Given the description of an element on the screen output the (x, y) to click on. 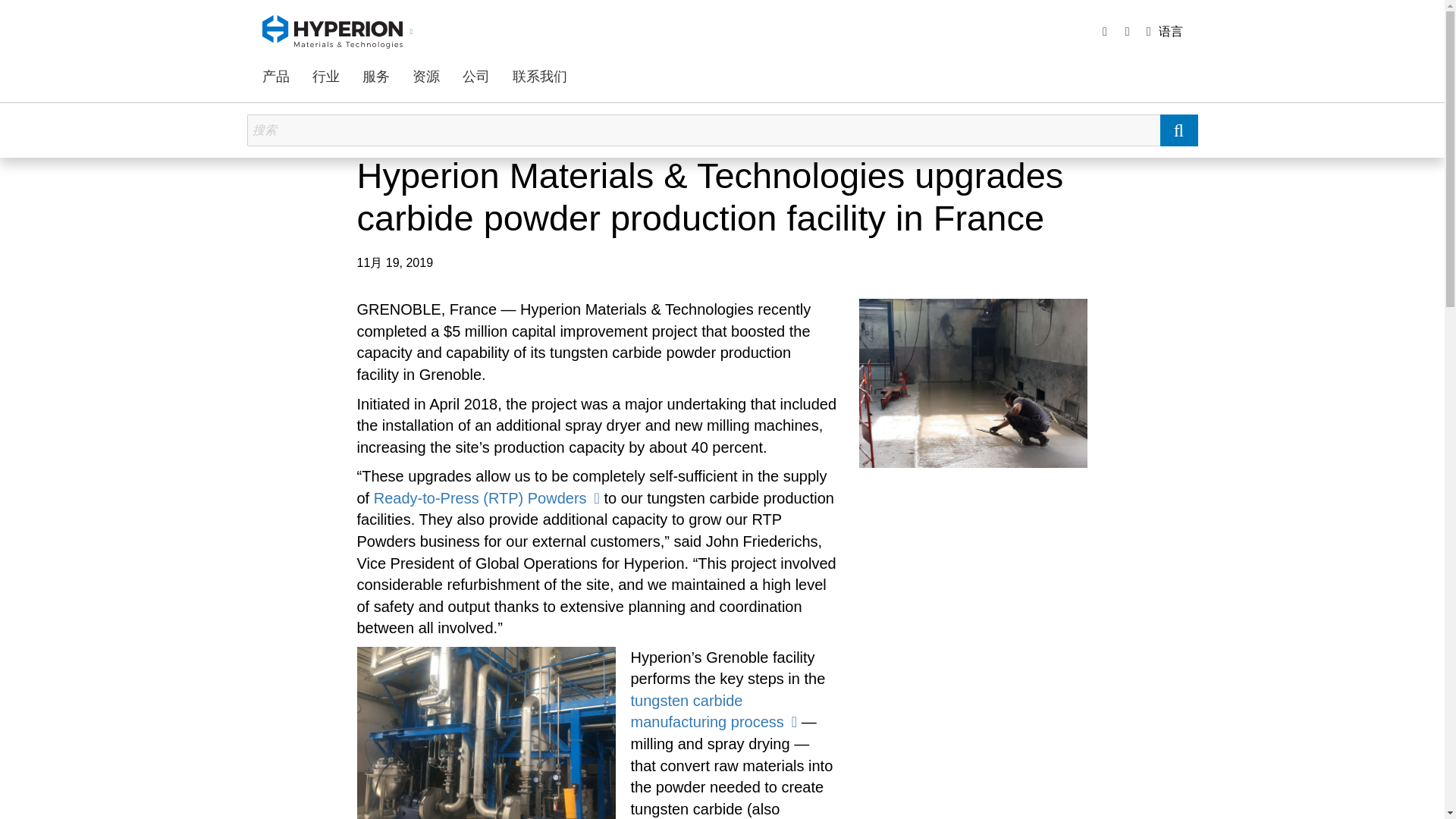
Hyperion tungsten carbide manufacturing (713, 711)
Hyperion ready-to-press powders (486, 497)
